Given the description of an element on the screen output the (x, y) to click on. 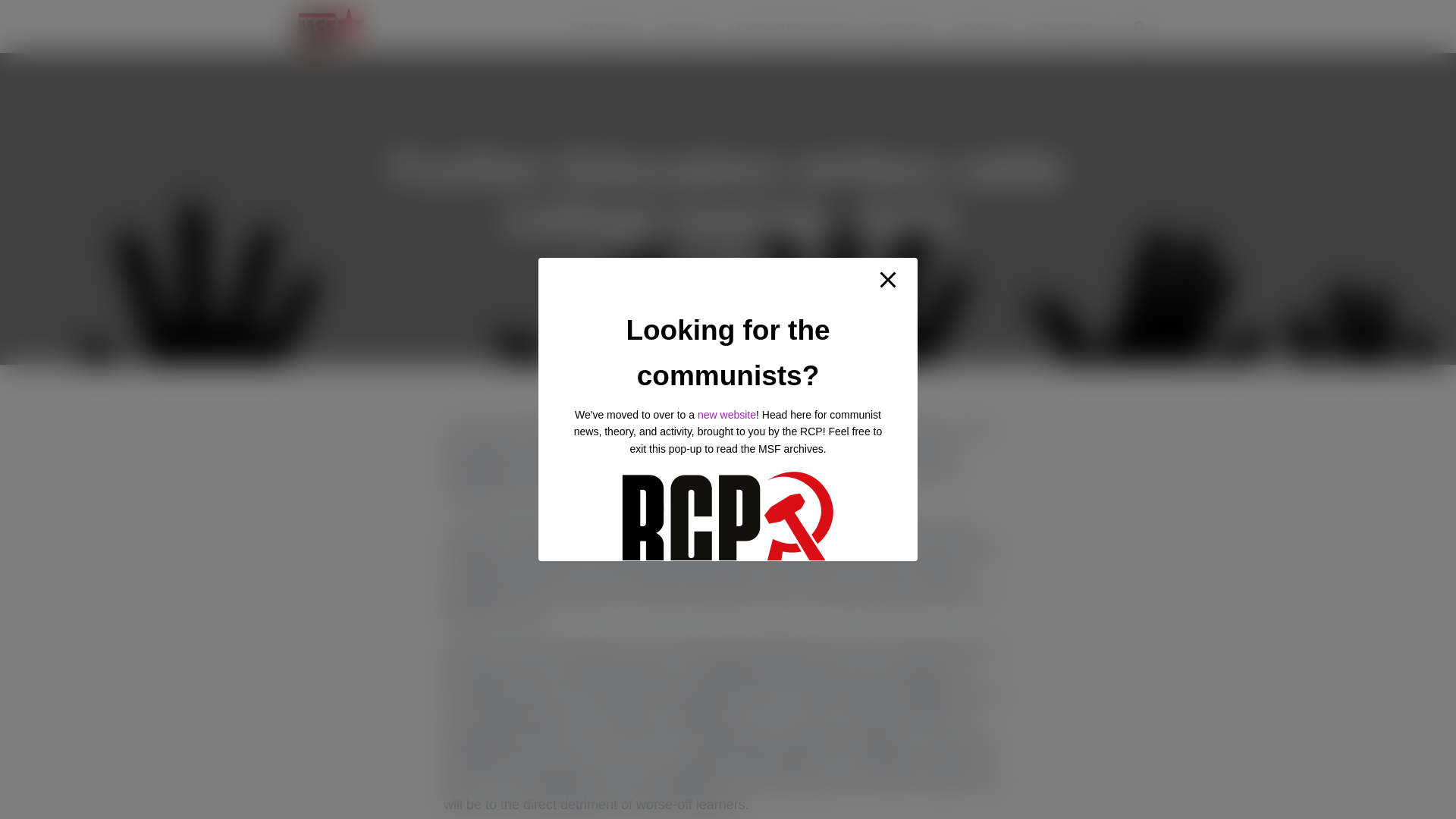
ARTICLES (687, 26)
Articles (687, 26)
Marxist Student Federation (330, 26)
REVOLUTION MAGAZINE (791, 26)
Search (3, 16)
CAMPAIGNS (900, 26)
WHO WE ARE (604, 26)
Who we are (604, 26)
SOCIAL MEDIA (1070, 26)
CONTACT US (982, 26)
